Given the description of an element on the screen output the (x, y) to click on. 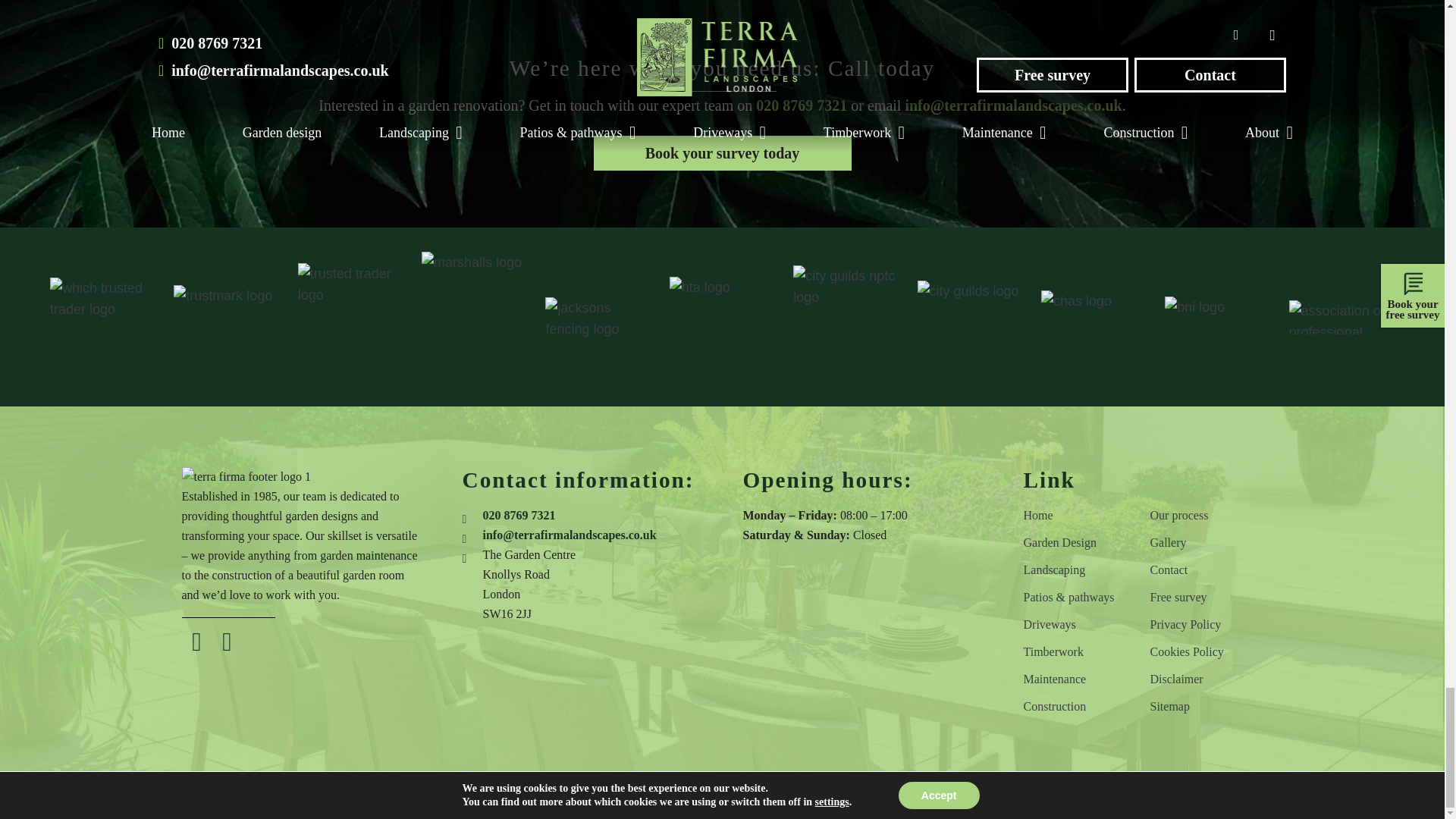
Instagram (227, 642)
Make Me Local (919, 799)
Facebook (197, 642)
